Given the description of an element on the screen output the (x, y) to click on. 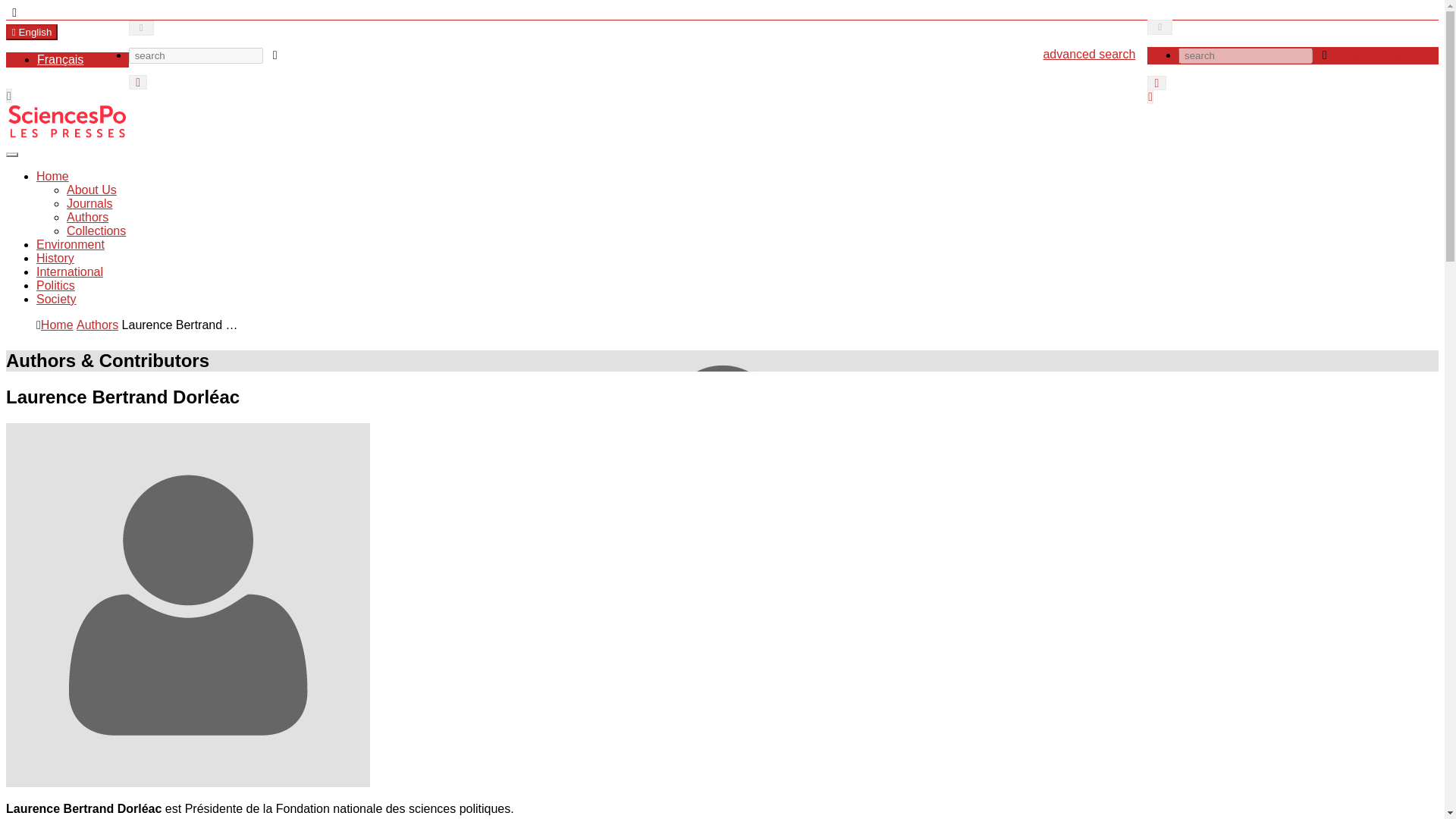
Home (52, 175)
Authors (97, 324)
 Search  (1159, 27)
advanced search (1094, 54)
 Shopping cart  (138, 82)
 Search  (141, 28)
Journals (89, 203)
 Shopping cart  (1156, 83)
English (31, 32)
About Us (91, 189)
